Given the description of an element on the screen output the (x, y) to click on. 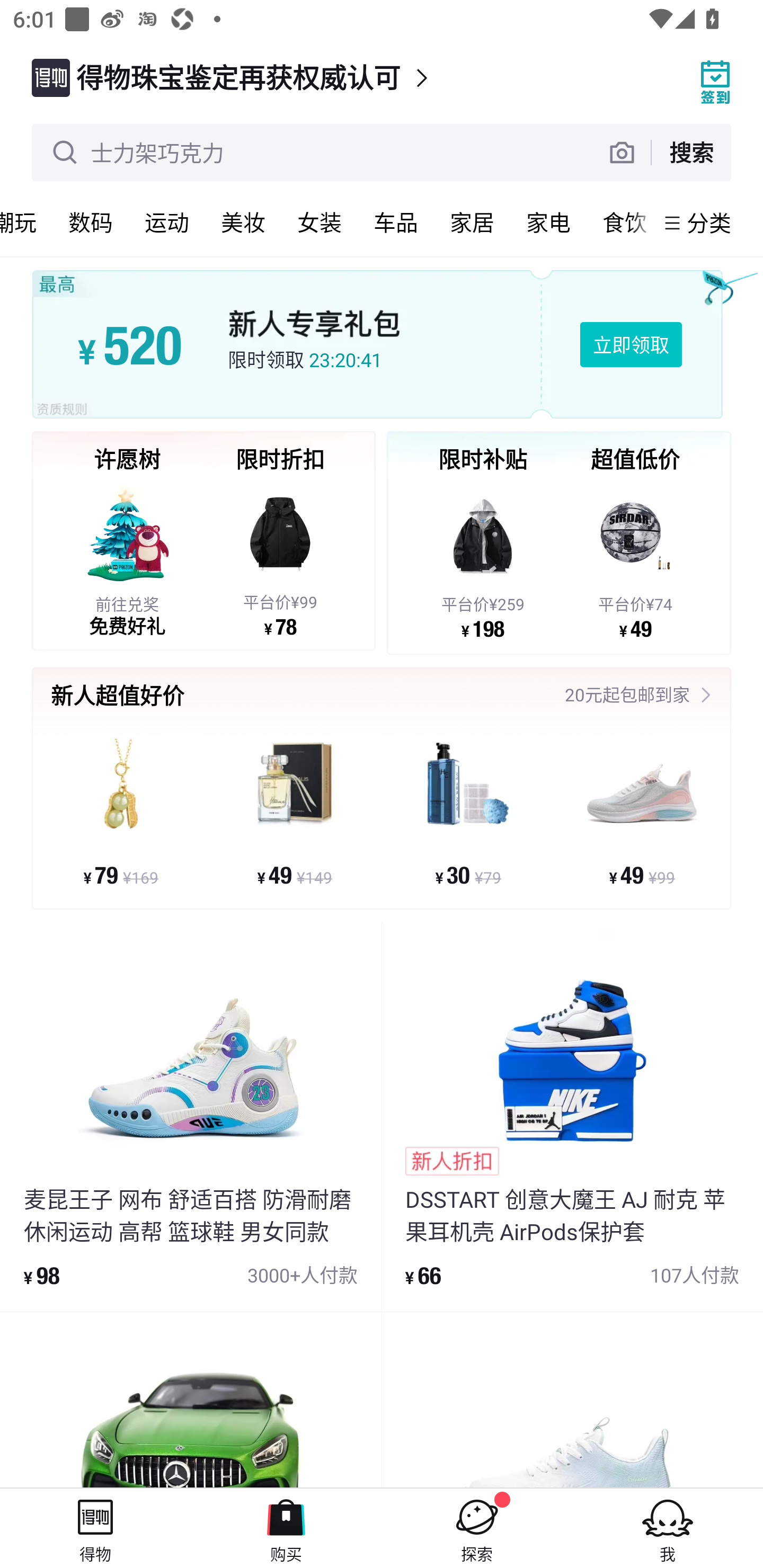
搜索 (690, 152)
数码 (90, 222)
运动 (166, 222)
美妆 (243, 222)
女装 (319, 222)
车品 (395, 222)
家居 (472, 222)
家电 (548, 222)
食饮 (620, 222)
分类 (708, 222)
立即领取 (630, 343)
平台价¥99 ¥ 78 (279, 557)
前往兑奖 免费好礼 (127, 558)
平台价¥259 ¥ 198 (482, 559)
平台价¥74 ¥ 49 (635, 559)
¥ 79 ¥169 (121, 811)
¥ 49 ¥149 (294, 811)
¥ 30 ¥79 (468, 811)
¥ 49 ¥99 (641, 811)
product_item (190, 1400)
product_item (572, 1400)
得物 (95, 1528)
购买 (285, 1528)
探索 (476, 1528)
我 (667, 1528)
